Given the description of an element on the screen output the (x, y) to click on. 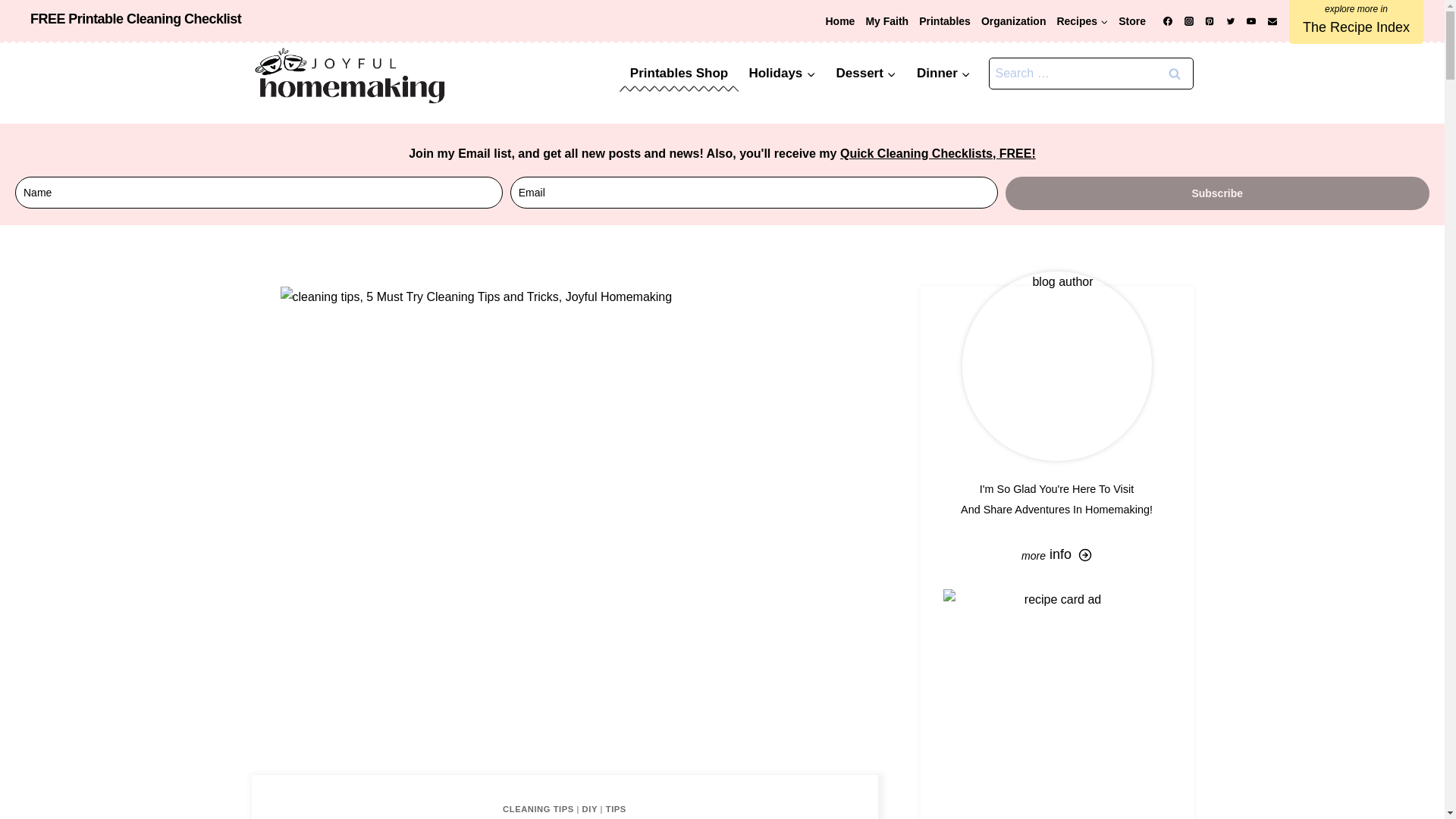
My Faith (887, 20)
Home (839, 20)
Printables (944, 20)
Search (1174, 73)
Search (1174, 73)
Recipes (1082, 20)
Store (1132, 20)
Organization (1013, 20)
FREE Printable Cleaning Checklist (135, 18)
